Given the description of an element on the screen output the (x, y) to click on. 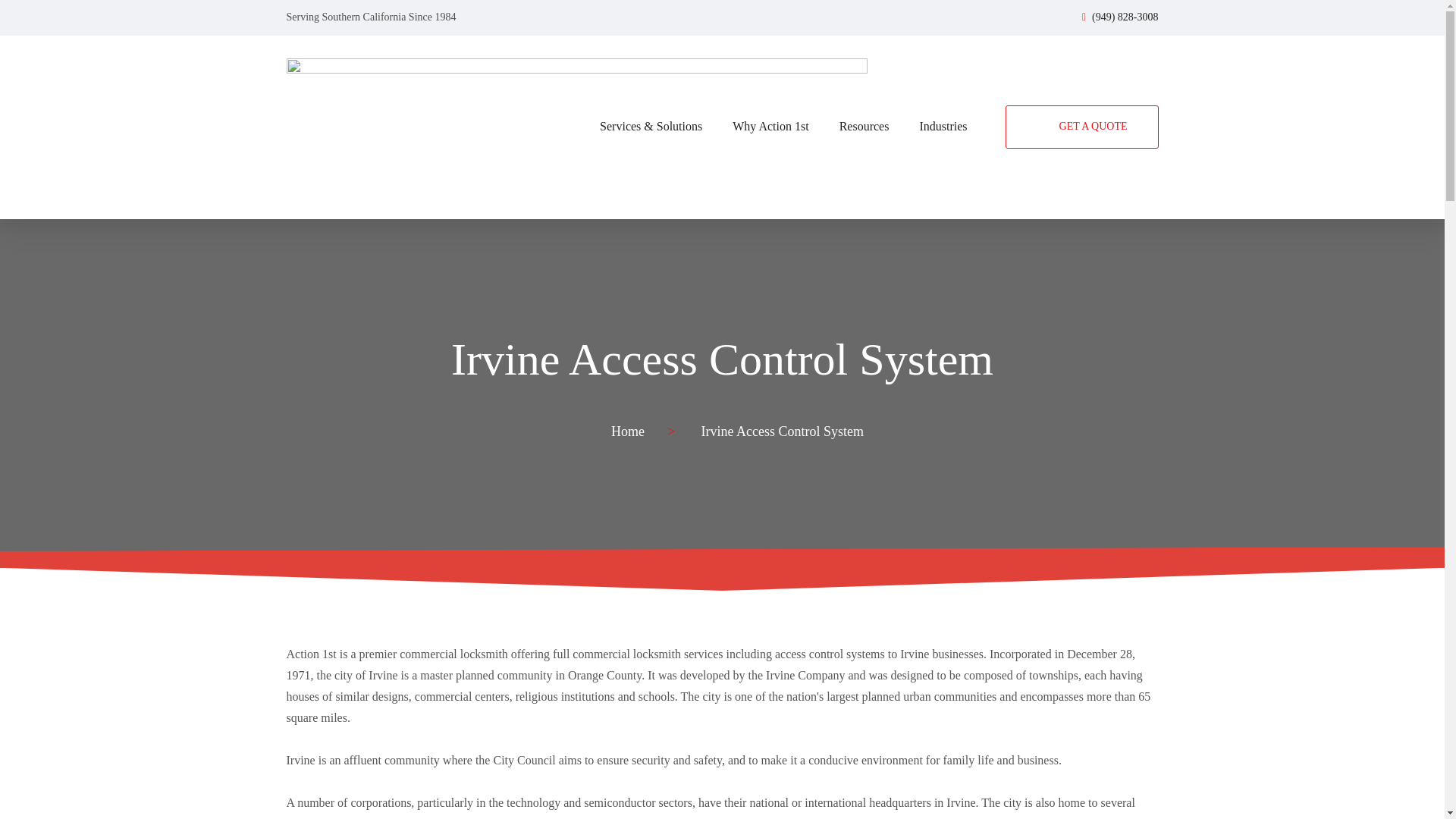
Irvine Access Control System (721, 359)
Industries (942, 126)
GET A QUOTE (1082, 126)
Irvine Access Control System (782, 431)
Home (627, 431)
Home (627, 431)
Irvine Access Control System (782, 431)
Why Action 1st (770, 126)
Resources (864, 126)
